Given the description of an element on the screen output the (x, y) to click on. 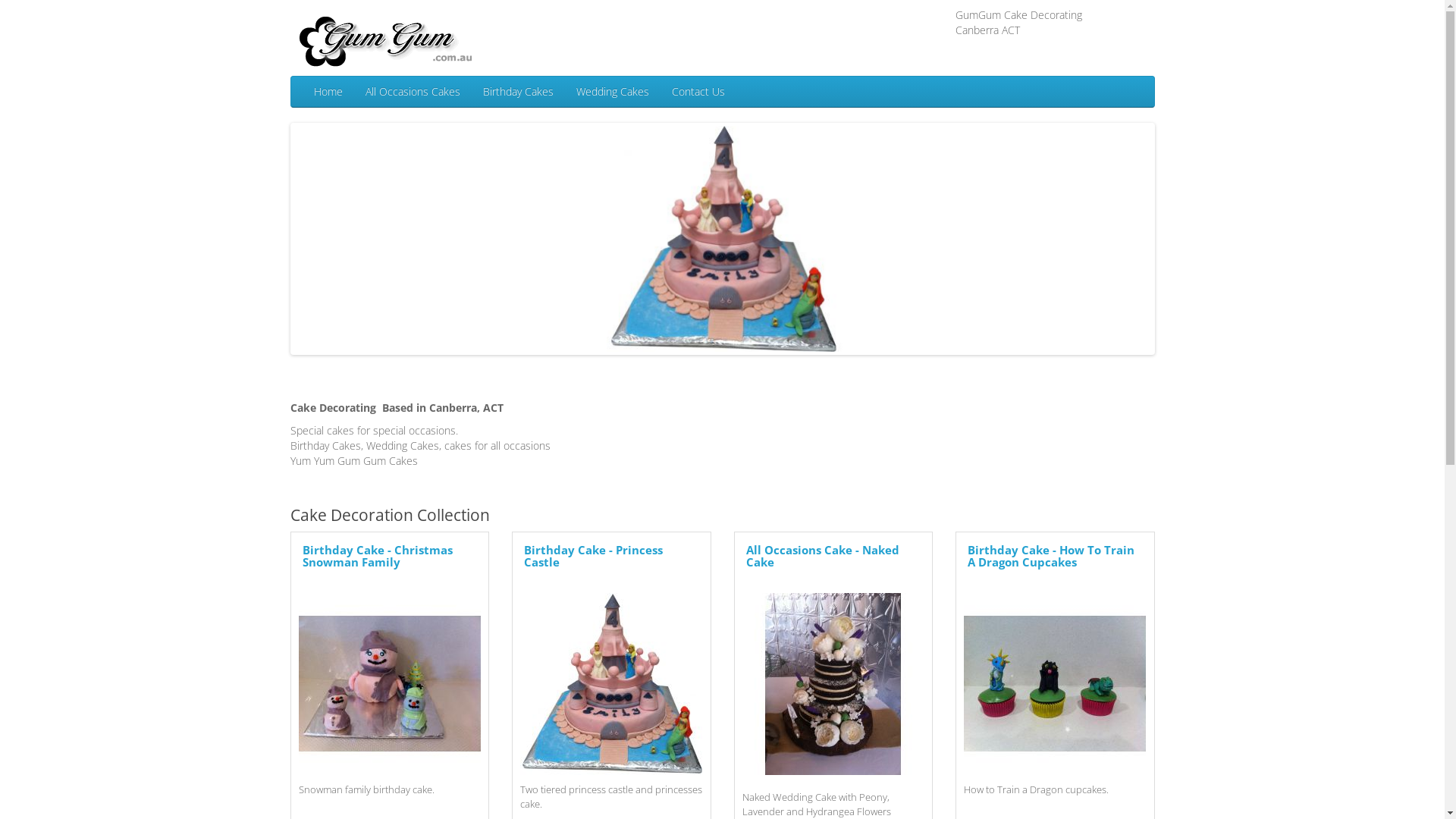
Birthday Cake - How To Train A Dragon Cupcakes Element type: text (1050, 556)
All Occasions Cake - Naked Cake Element type: hover (833, 684)
Birthday Cake - Christmas Snowman Family Element type: hover (389, 684)
Gum Gum Cake Decorating Canberra Element type: hover (384, 41)
All Occasions Cake - Naked Cake Element type: text (822, 556)
Birthday Cake - Princess Castle Element type: hover (611, 684)
All Occasions Cakes Element type: text (411, 91)
Wedding Cakes Element type: text (611, 91)
Birthday Cake - How To Train A Dragon Cupcakes Element type: hover (1054, 684)
Home Element type: text (327, 91)
Birthday Cake - Christmas Snowman Family Element type: text (376, 556)
Birthday Cakes Element type: text (517, 91)
Birthday Cake - Princess Castle Element type: text (593, 556)
Contact Us Element type: text (697, 91)
